Given the description of an element on the screen output the (x, y) to click on. 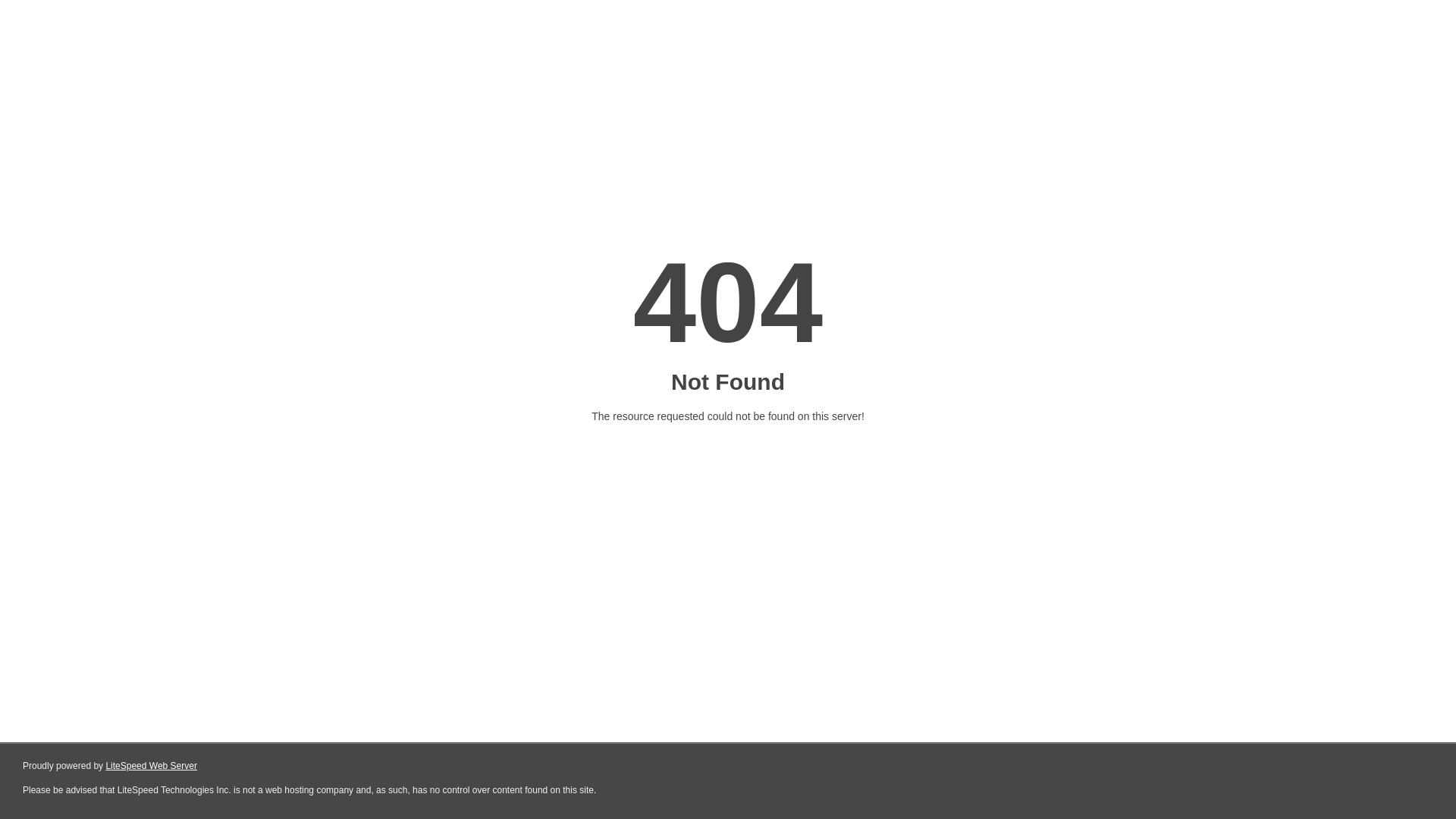
LiteSpeed Web Server Element type: text (151, 765)
